Given the description of an element on the screen output the (x, y) to click on. 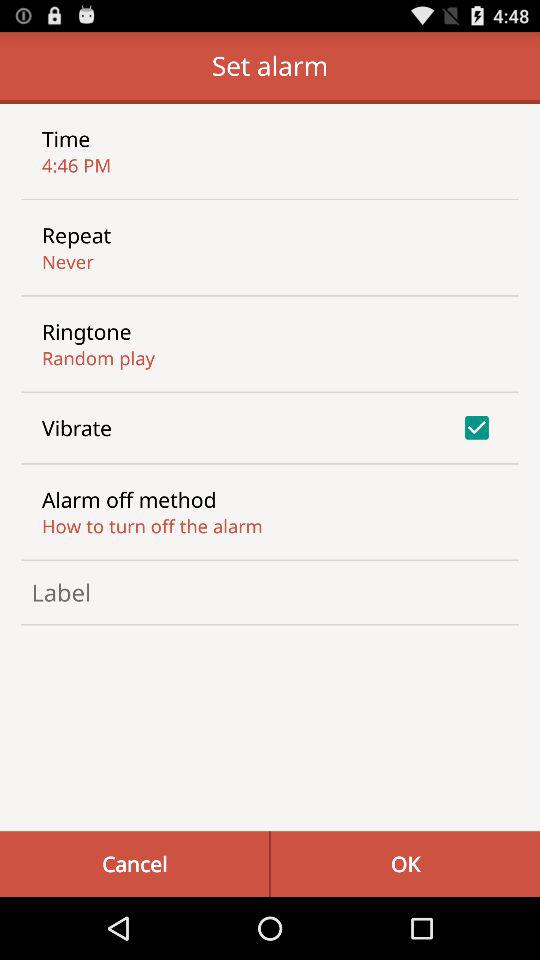
launch how to turn icon (152, 525)
